Given the description of an element on the screen output the (x, y) to click on. 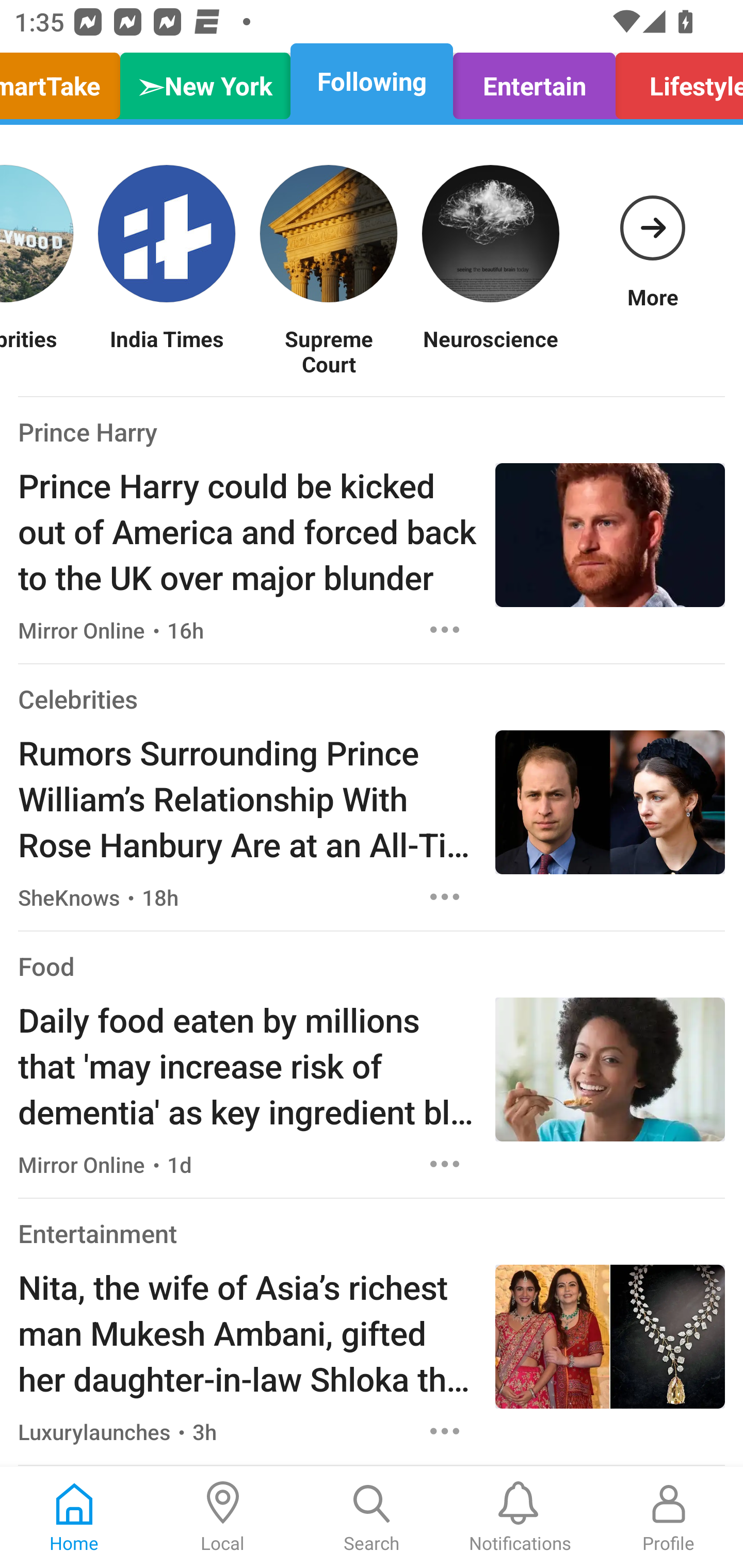
➣New York (205, 81)
Following (371, 81)
Entertain (534, 81)
More (652, 233)
India Times (166, 350)
Supreme Court (328, 350)
Neuroscience (490, 350)
Prince Harry (87, 430)
Options (444, 629)
Celebrities (77, 699)
Options (444, 896)
Food (46, 965)
Options (444, 1164)
Entertainment (97, 1232)
Options (444, 1431)
Local (222, 1517)
Search (371, 1517)
Notifications (519, 1517)
Profile (668, 1517)
